Given the description of an element on the screen output the (x, y) to click on. 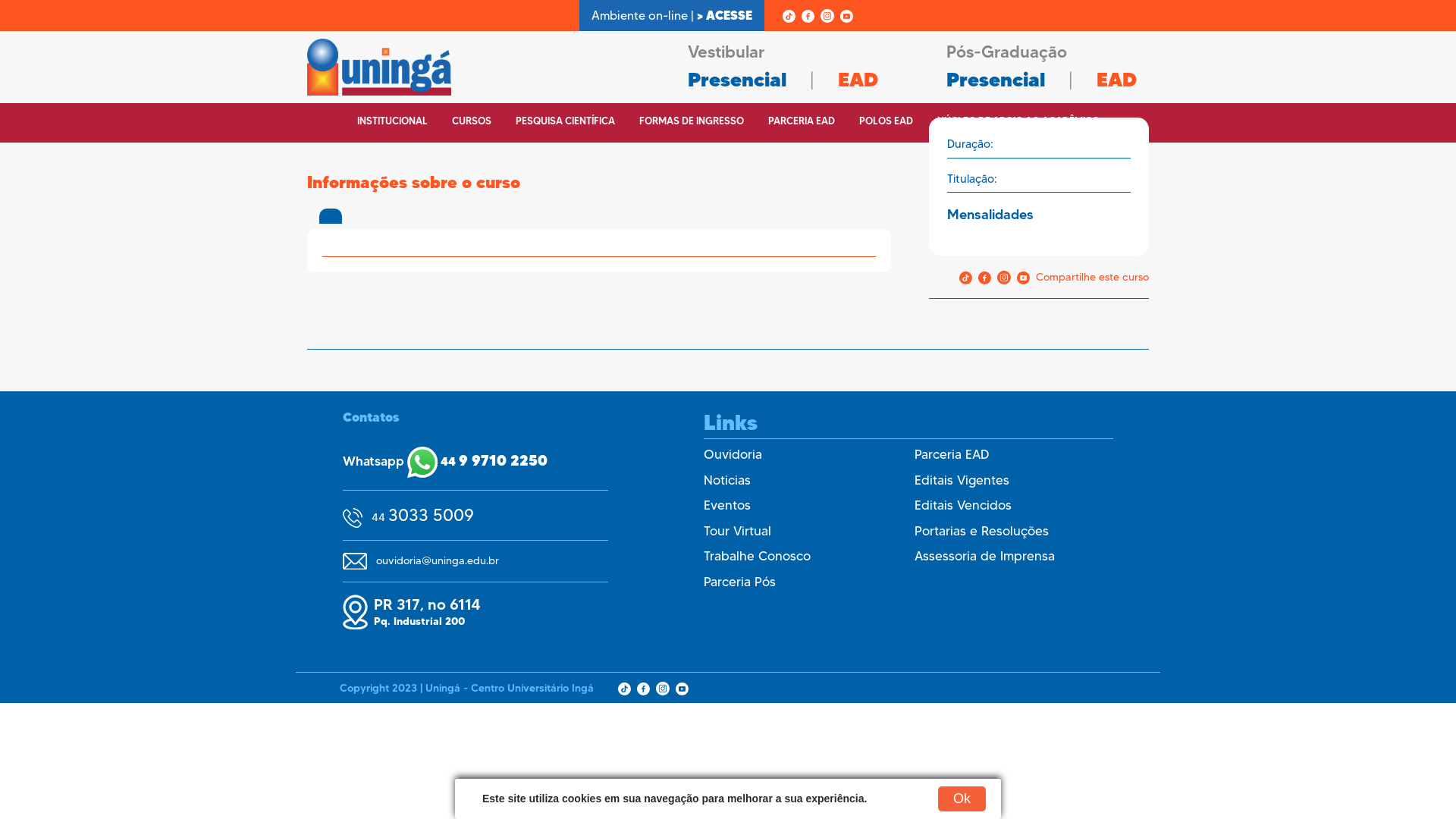
Eventos Element type: text (802, 505)
Presencial Element type: text (995, 78)
Ouvidoria Element type: text (802, 454)
Trabalhe Conosco Element type: text (802, 556)
Editais Vencidos Element type: text (1013, 505)
PR 317, no 6114
Pq. Industrial 200 Element type: text (475, 611)
CURSOS Element type: text (471, 122)
Noticias Element type: text (802, 480)
FORMAS DE INGRESSO Element type: text (690, 122)
Editais Vigentes Element type: text (1013, 480)
Parceria EAD Element type: text (1013, 454)
PARCERIA EAD Element type: text (800, 122)
Ok Element type: text (961, 798)
POLOS EAD Element type: text (885, 122)
ouvidoria@uninga.edu.br Element type: text (475, 561)
INSTITUCIONAL Element type: text (391, 122)
44 3033 5009 Element type: text (475, 515)
> ACESSE Element type: text (723, 14)
Assessoria de Imprensa Element type: text (1013, 556)
Tour Virtual Element type: text (802, 531)
Whatsapp 44 9 9710 2250 Element type: text (475, 462)
EAD Element type: text (857, 78)
Presencial Element type: text (736, 78)
EAD Element type: text (1116, 78)
